Given the description of an element on the screen output the (x, y) to click on. 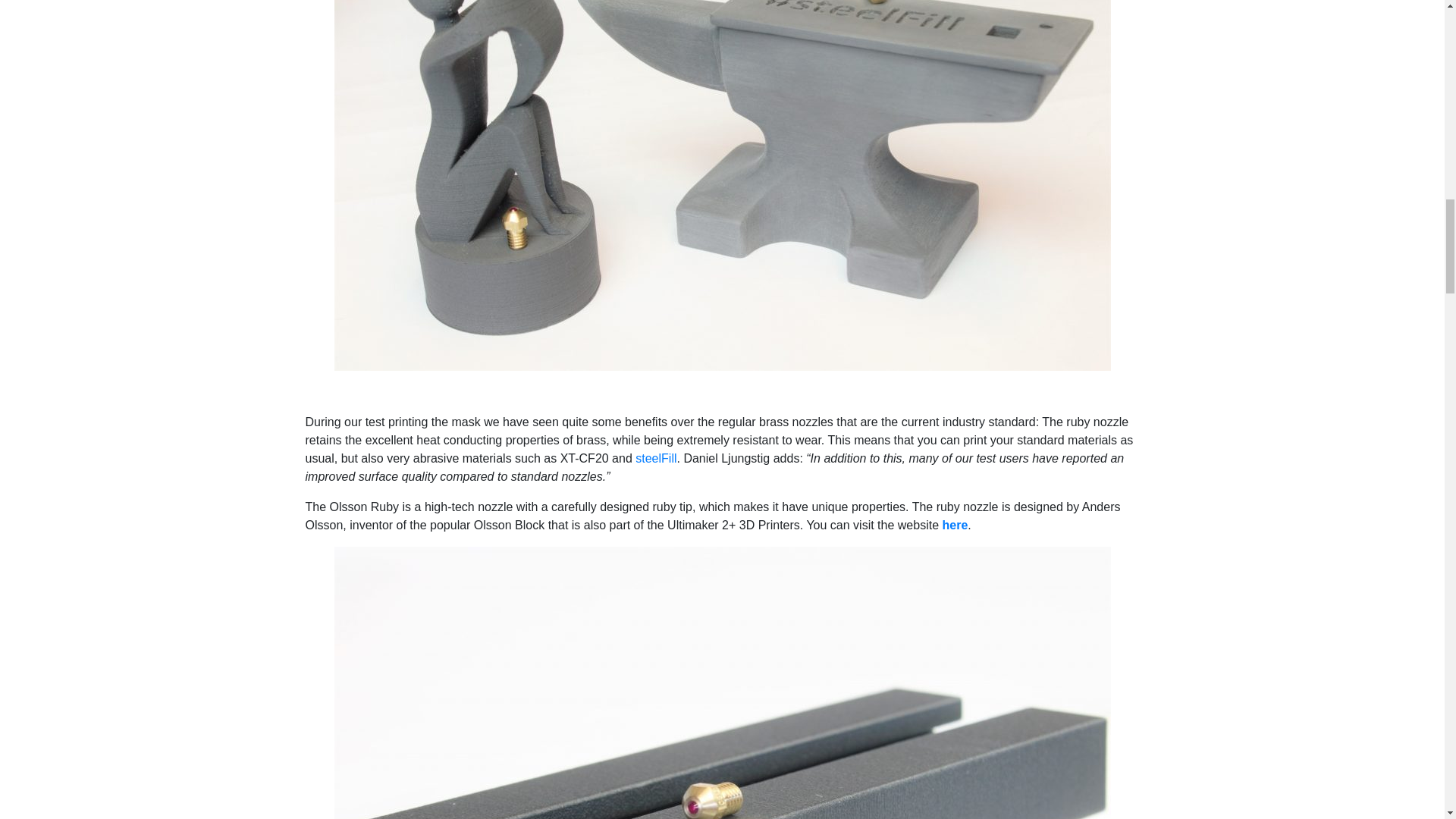
steelFill (655, 458)
here (955, 524)
